Given the description of an element on the screen output the (x, y) to click on. 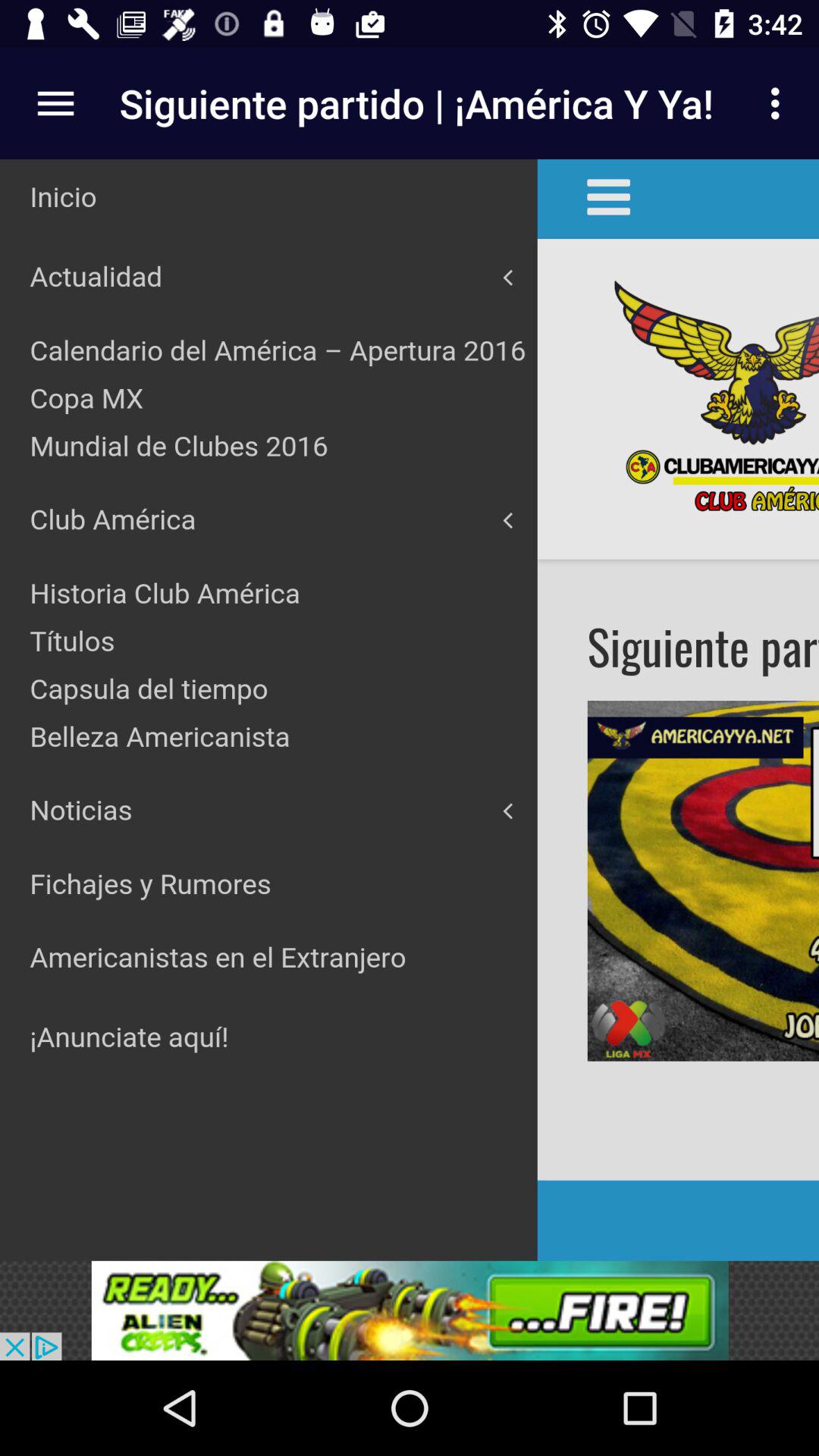
opens advertisement (409, 1310)
